Given the description of an element on the screen output the (x, y) to click on. 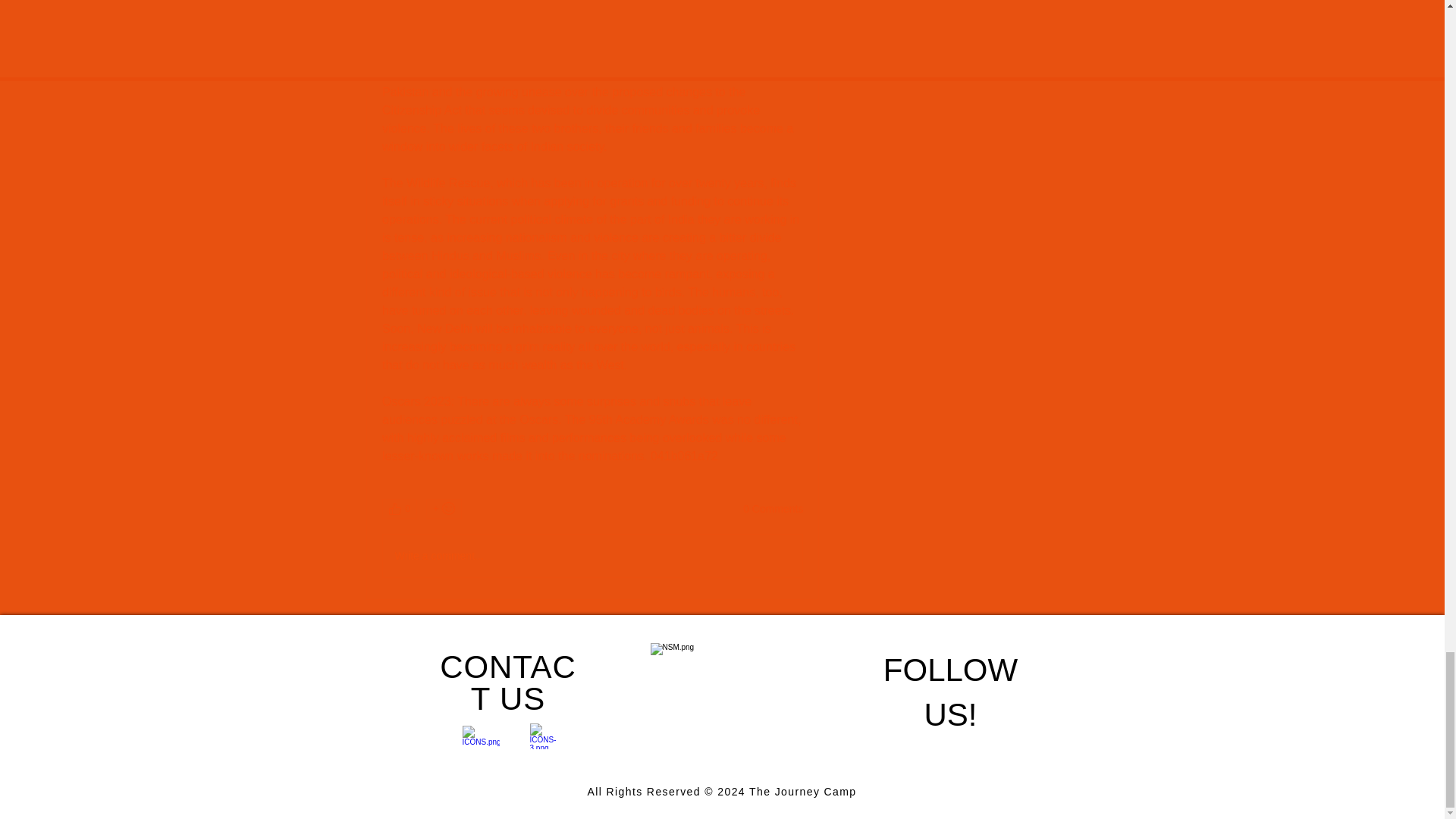
0 Comments (772, 509)
Write a comment... (591, 555)
